Given the description of an element on the screen output the (x, y) to click on. 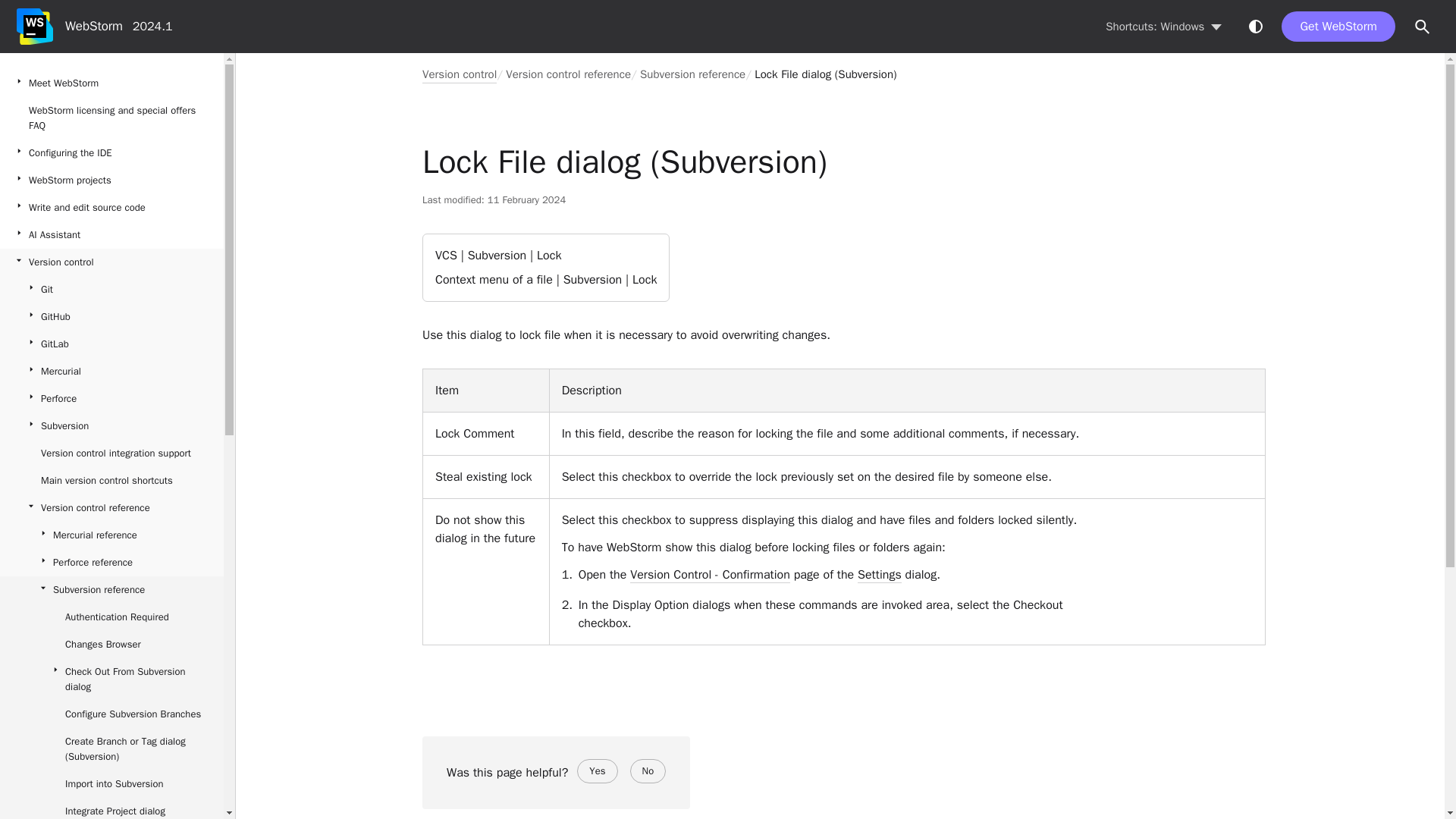
Get WebStorm (1337, 26)
Switch theme (1255, 26)
Import into Subversion (112, 783)
AI Assistant (112, 234)
Configure Subversion Branches (112, 714)
Mercurial (112, 370)
WebStorm projects (112, 180)
Configuring the IDE (112, 153)
Search (1422, 26)
Changes Browser (112, 644)
Version control integration support (112, 452)
Meet WebStorm (112, 83)
Check Out From Subversion dialog (112, 679)
GitLab (112, 343)
Authentication Required (112, 616)
